Given the description of an element on the screen output the (x, y) to click on. 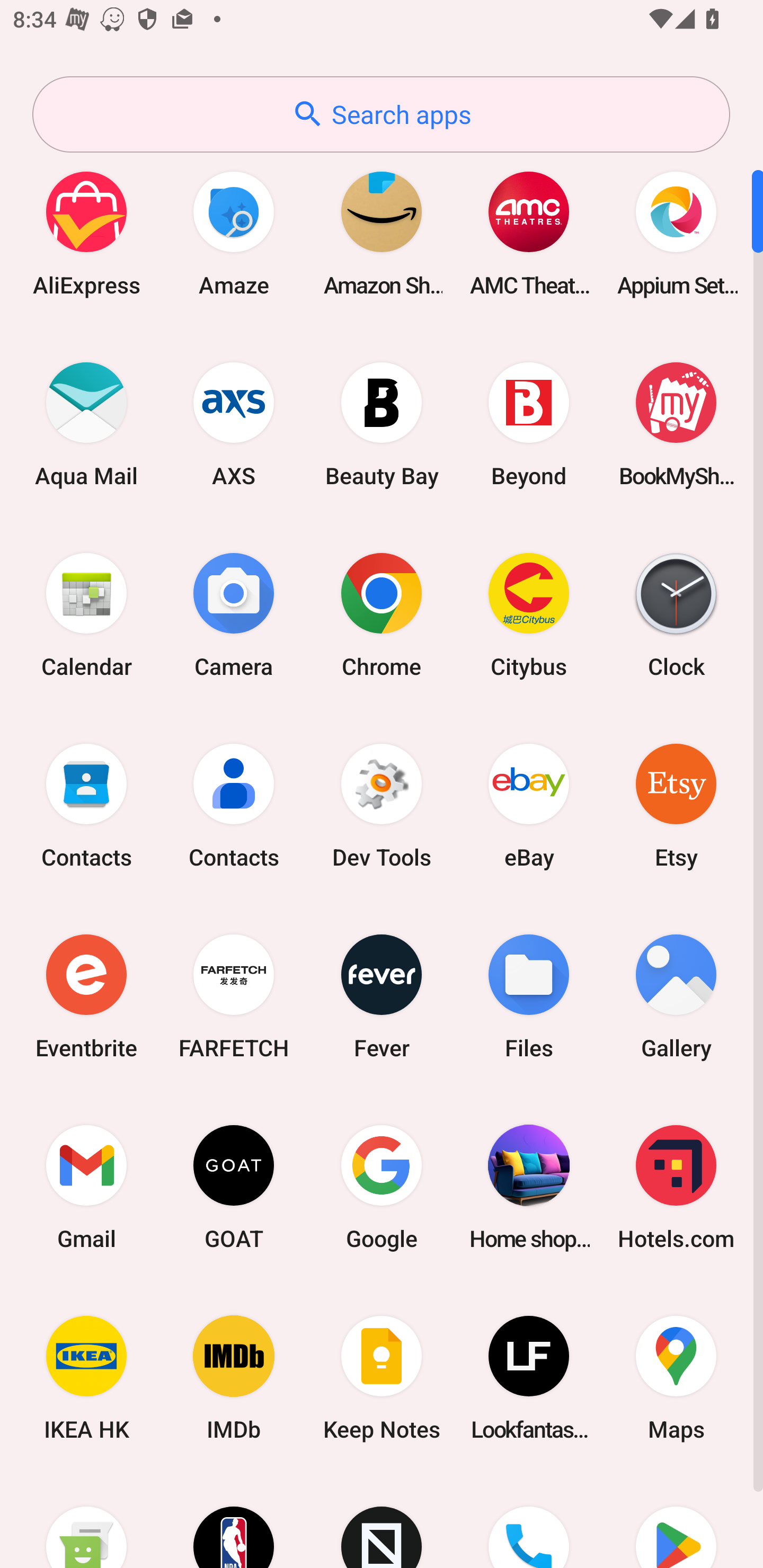
  Search apps (381, 114)
AliExpress (86, 233)
Amaze (233, 233)
Amazon Shopping (381, 233)
AMC Theatres (528, 233)
Appium Settings (676, 233)
Aqua Mail (86, 424)
AXS (233, 424)
Beauty Bay (381, 424)
Beyond (528, 424)
BookMyShow (676, 424)
Calendar (86, 614)
Camera (233, 614)
Chrome (381, 614)
Citybus (528, 614)
Clock (676, 614)
Contacts (86, 805)
Contacts (233, 805)
Dev Tools (381, 805)
eBay (528, 805)
Etsy (676, 805)
Eventbrite (86, 996)
FARFETCH (233, 996)
Fever (381, 996)
Files (528, 996)
Gallery (676, 996)
Gmail (86, 1186)
GOAT (233, 1186)
Google (381, 1186)
Home shopping (528, 1186)
Hotels.com (676, 1186)
IKEA HK (86, 1377)
IMDb (233, 1377)
Keep Notes (381, 1377)
Lookfantastic (528, 1377)
Maps (676, 1377)
Messaging (86, 1520)
NBA (233, 1520)
Novelship (381, 1520)
Phone (528, 1520)
Play Store (676, 1520)
